Given the description of an element on the screen output the (x, y) to click on. 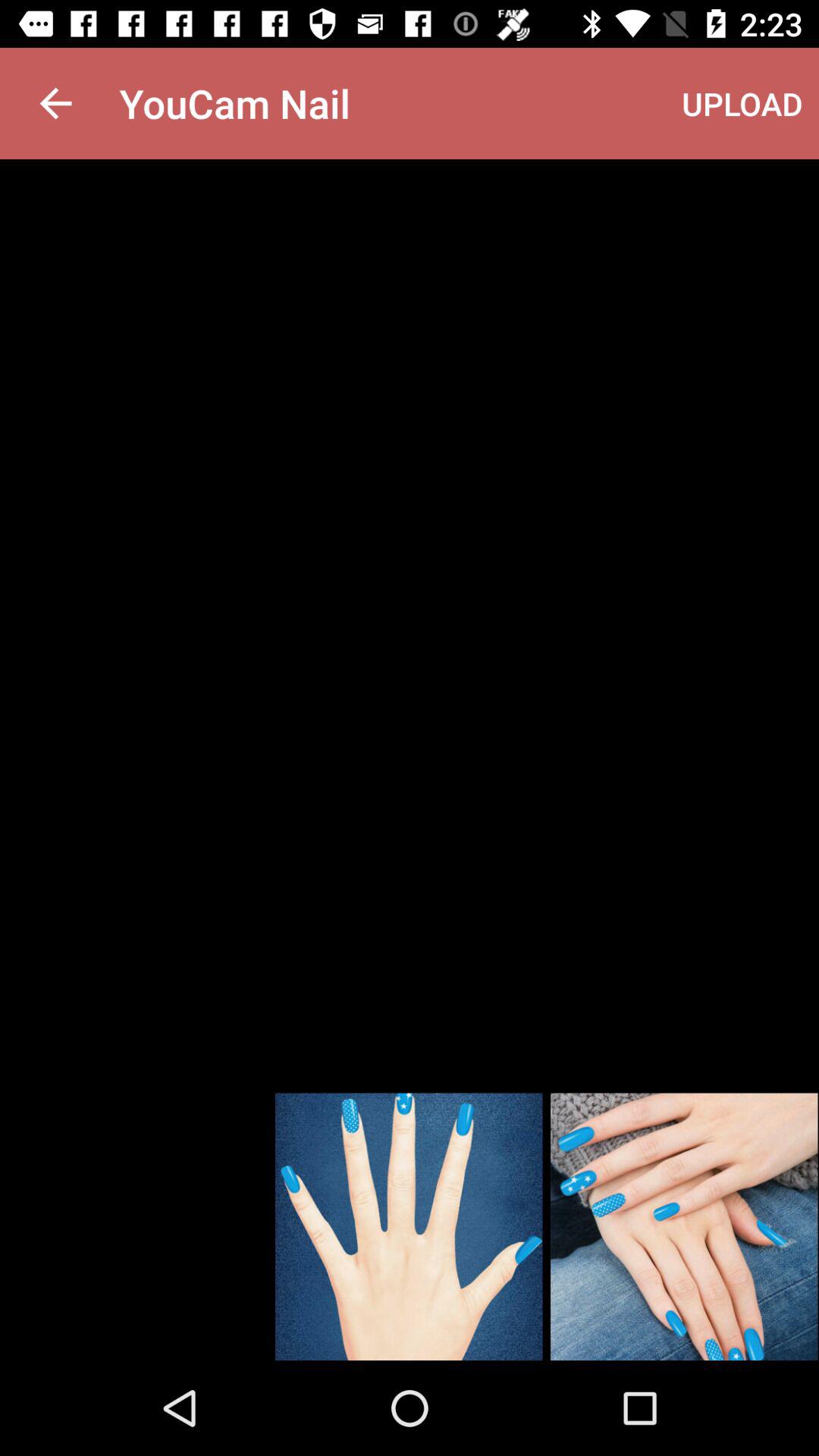
select image (683, 1226)
